Given the description of an element on the screen output the (x, y) to click on. 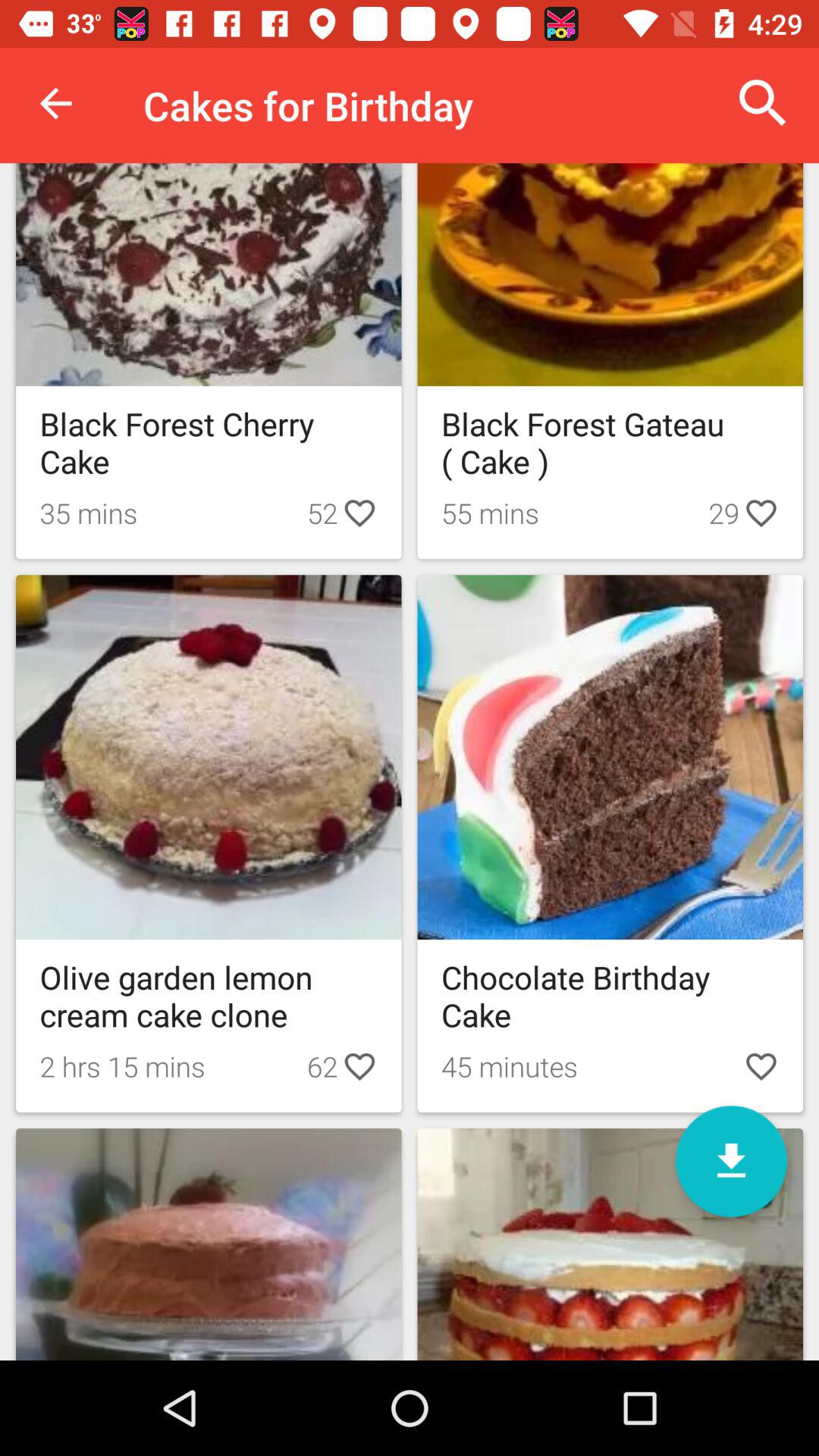
tap to download (731, 1161)
